Given the description of an element on the screen output the (x, y) to click on. 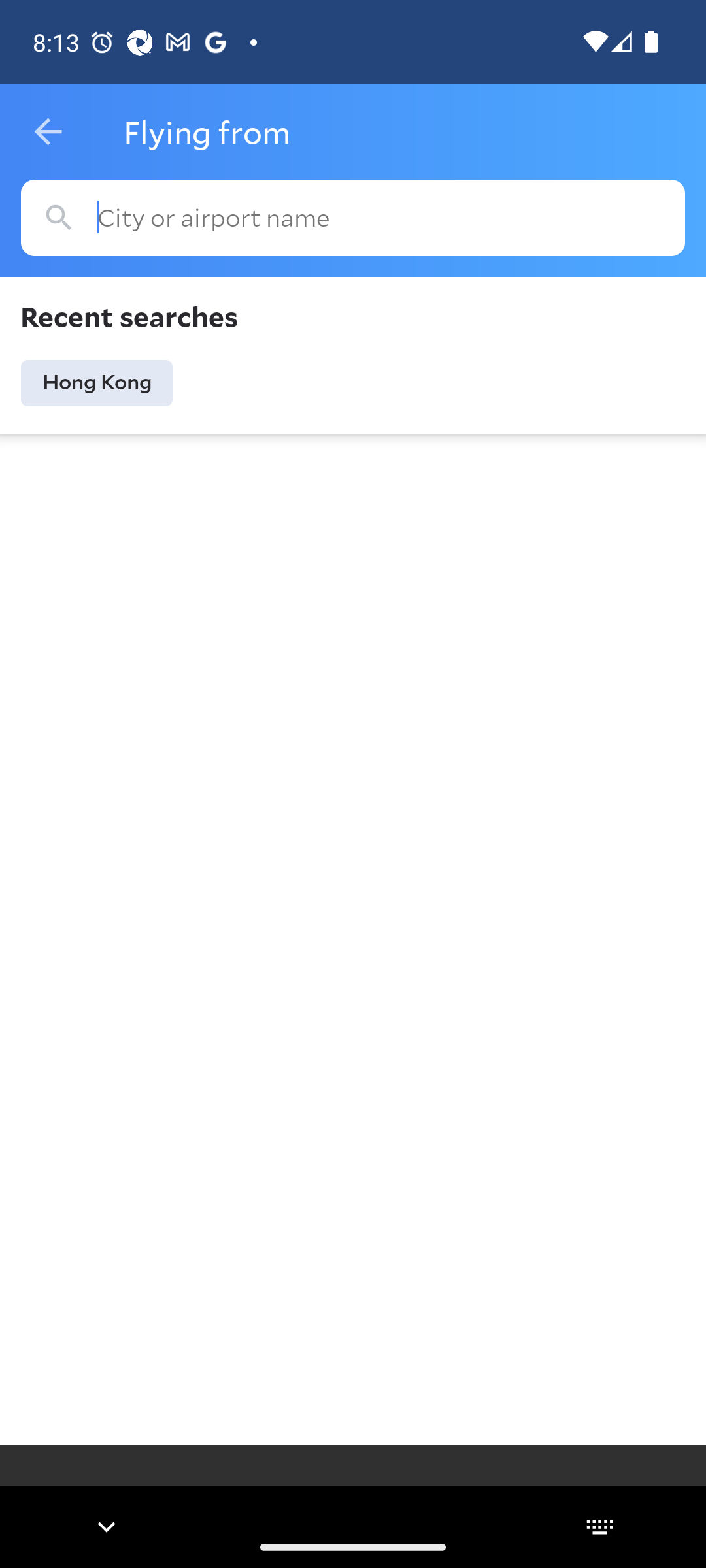
Navigate up (48, 131)
City or airport name (352, 217)
Hong Kong  Hong Kong (96, 383)
